Given the description of an element on the screen output the (x, y) to click on. 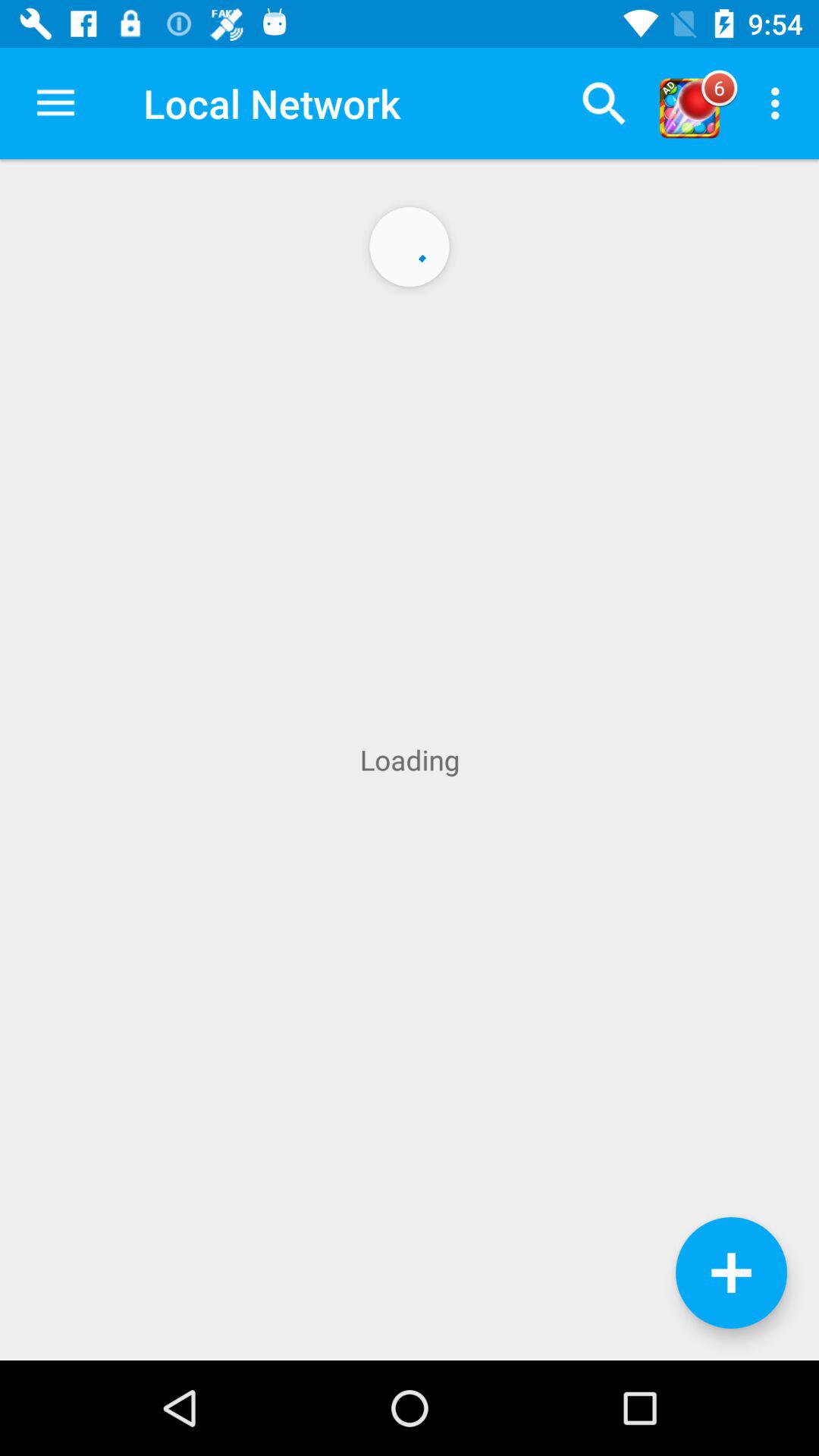
click the icon above loading item (603, 103)
